Given the description of an element on the screen output the (x, y) to click on. 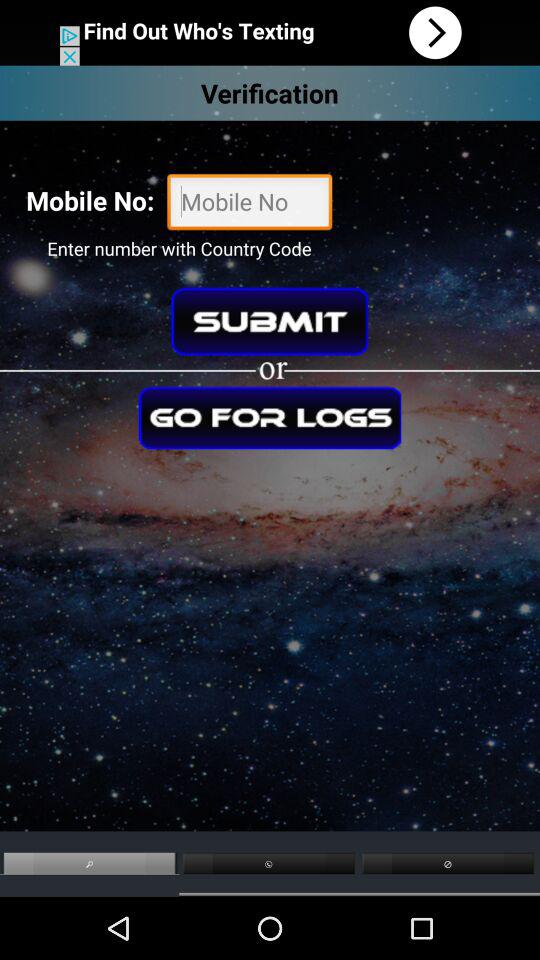
submit (269, 321)
